Given the description of an element on the screen output the (x, y) to click on. 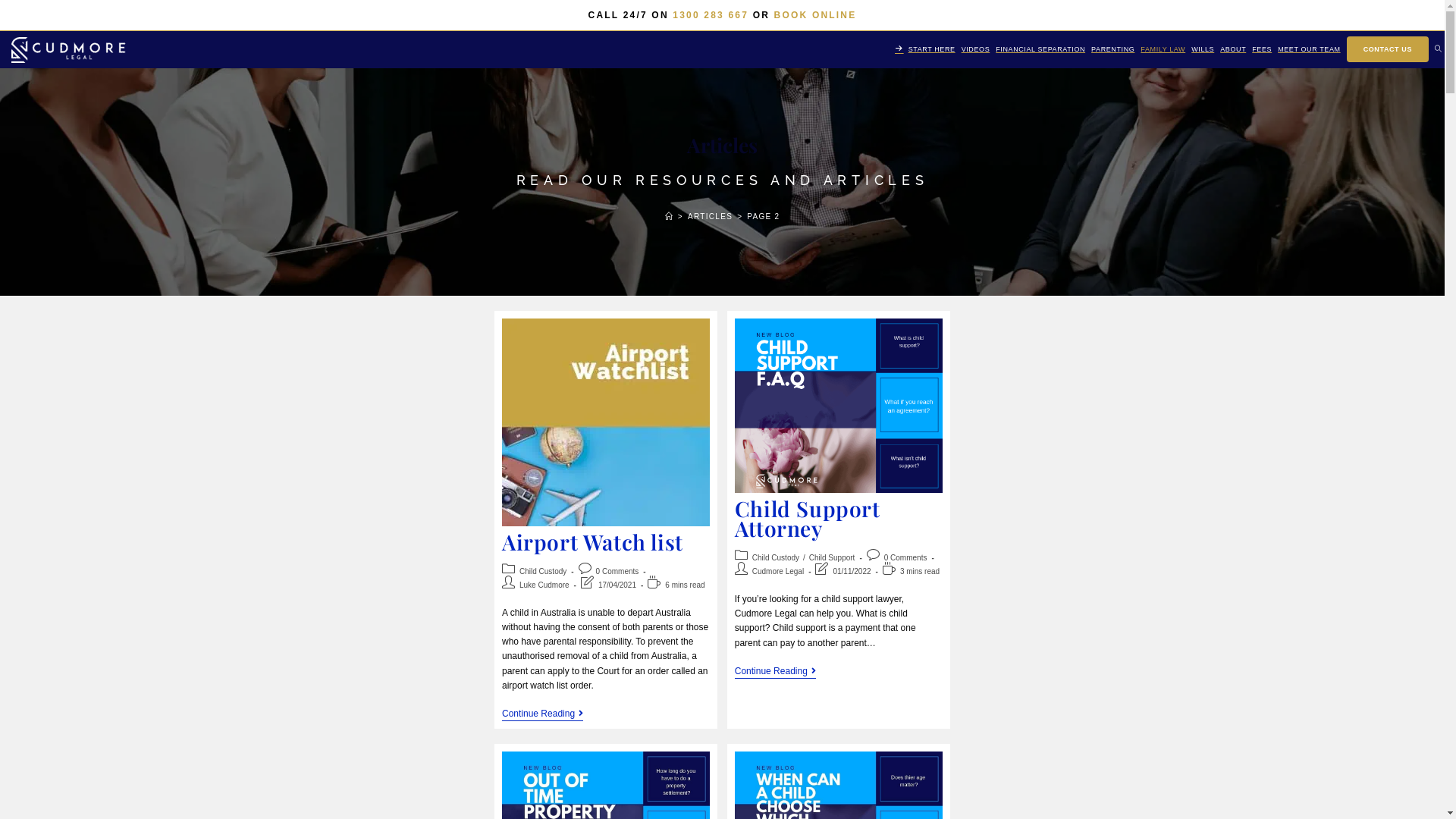
PAGE 2 Element type: text (762, 216)
Continue Reading
Child Support Attorney Element type: text (774, 671)
ABOUT Element type: text (1232, 49)
Luke Cudmore Element type: text (544, 584)
0 Comments Element type: text (617, 571)
Cudmore Legal Element type: text (777, 571)
VIDEOS Element type: text (975, 49)
Continue Reading
Airport Watch List Element type: text (542, 714)
Child Support Element type: text (832, 557)
BOOK ONLINE Element type: text (815, 14)
Airport Watch list Element type: text (592, 541)
Child Custody Element type: text (775, 557)
PARENTING Element type: text (1112, 49)
ARTICLES Element type: text (709, 216)
CONTACT US Element type: text (1387, 49)
1300 283 667 Element type: text (710, 14)
FEES Element type: text (1261, 49)
FINANCIAL SEPARATION Element type: text (1040, 49)
FAMILY LAW Element type: text (1162, 49)
Child Custody Element type: text (542, 571)
START HERE Element type: text (924, 49)
MEET OUR TEAM Element type: text (1308, 49)
0 Comments Element type: text (905, 557)
WILLS Element type: text (1202, 49)
TOGGLE WEBSITE SEARCH Element type: text (1437, 49)
Child Support Attorney Element type: text (807, 518)
